Given the description of an element on the screen output the (x, y) to click on. 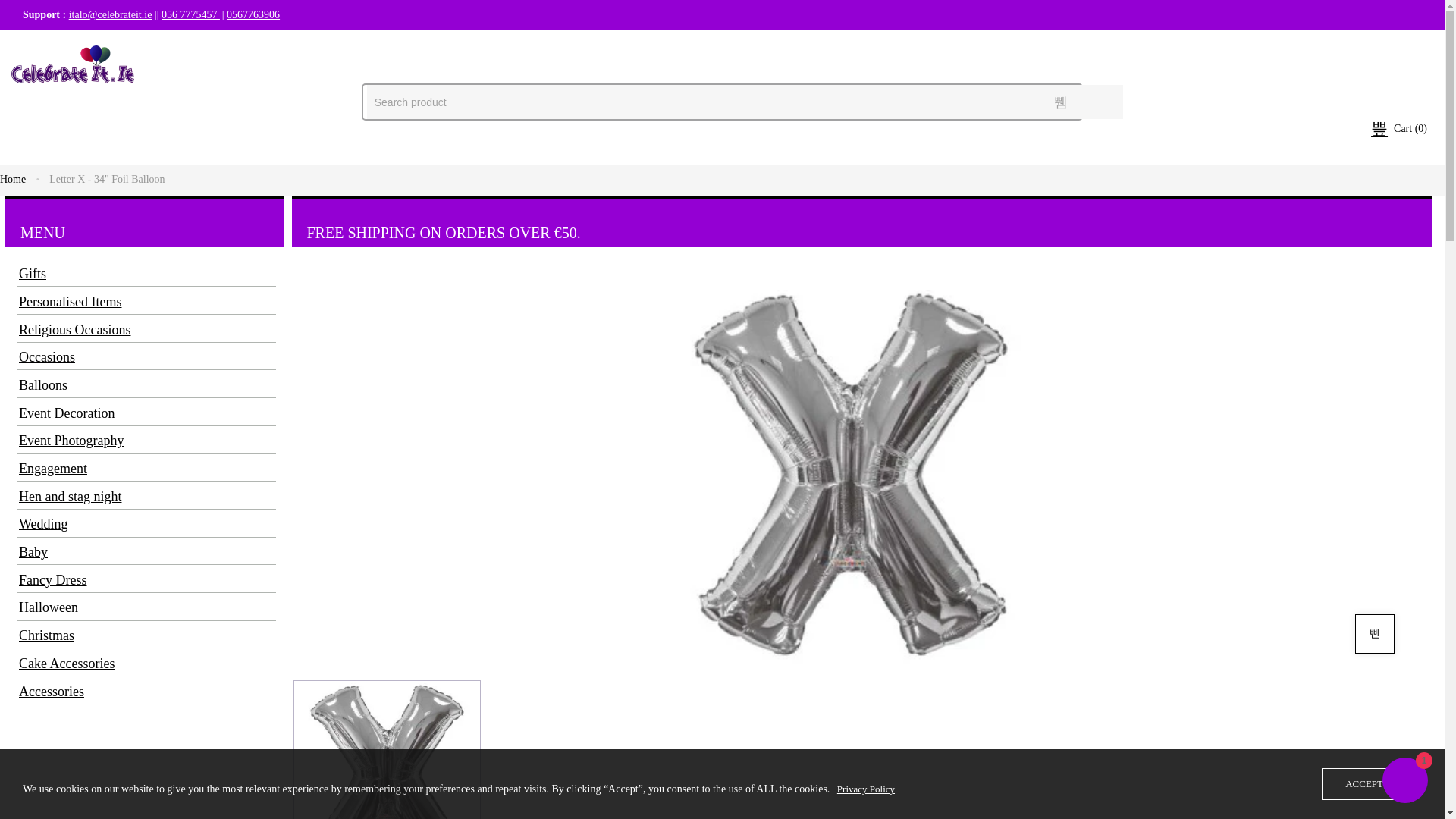
Search (1060, 101)
Sign In (115, 45)
Home (13, 179)
056 7775457 (190, 14)
Create An Account (195, 45)
Gifts (144, 274)
Back to the frontpage (13, 179)
Checkout (58, 45)
0567763906 (253, 14)
